Given the description of an element on the screen output the (x, y) to click on. 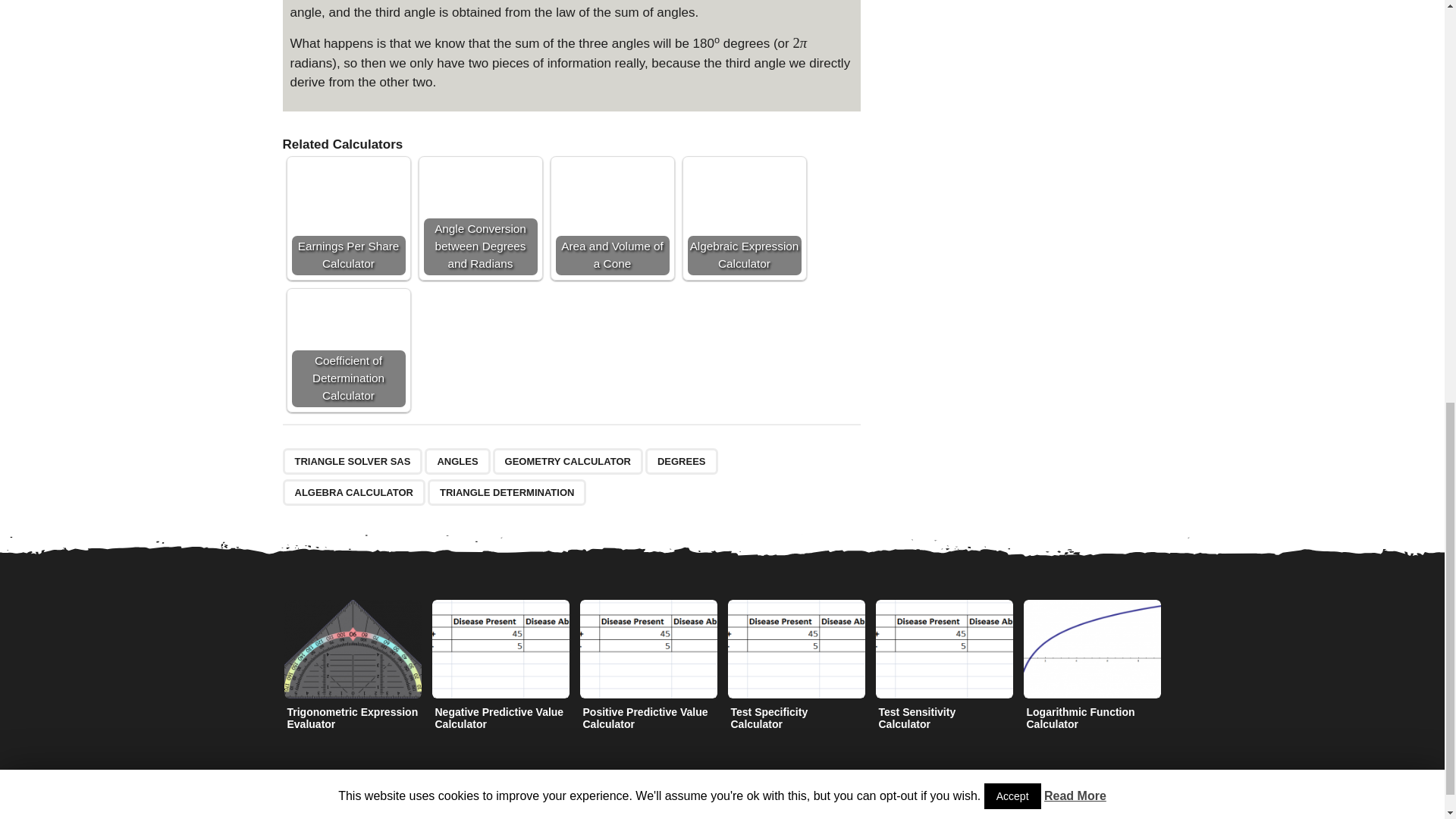
Earnings Per Share Calculator (347, 218)
Area and Volume of a Cone (611, 218)
Algebraic Expression Calculator (743, 218)
Coefficient of Determination Calculator (347, 350)
Angle Conversion between Degrees and Radians (480, 218)
